Given the description of an element on the screen output the (x, y) to click on. 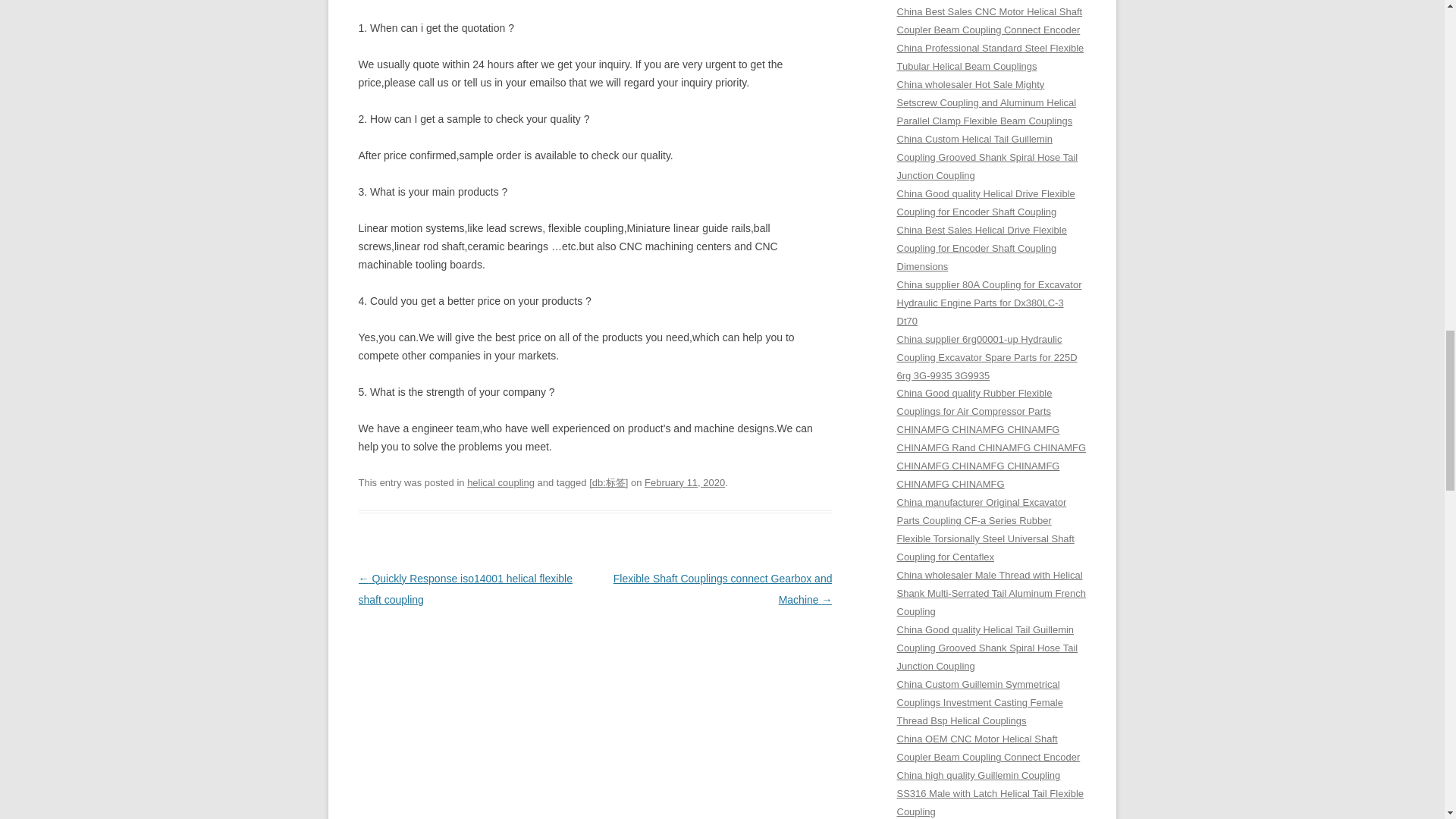
helical coupling (500, 482)
9:31 am (685, 482)
February 11, 2020 (685, 482)
